Given the description of an element on the screen output the (x, y) to click on. 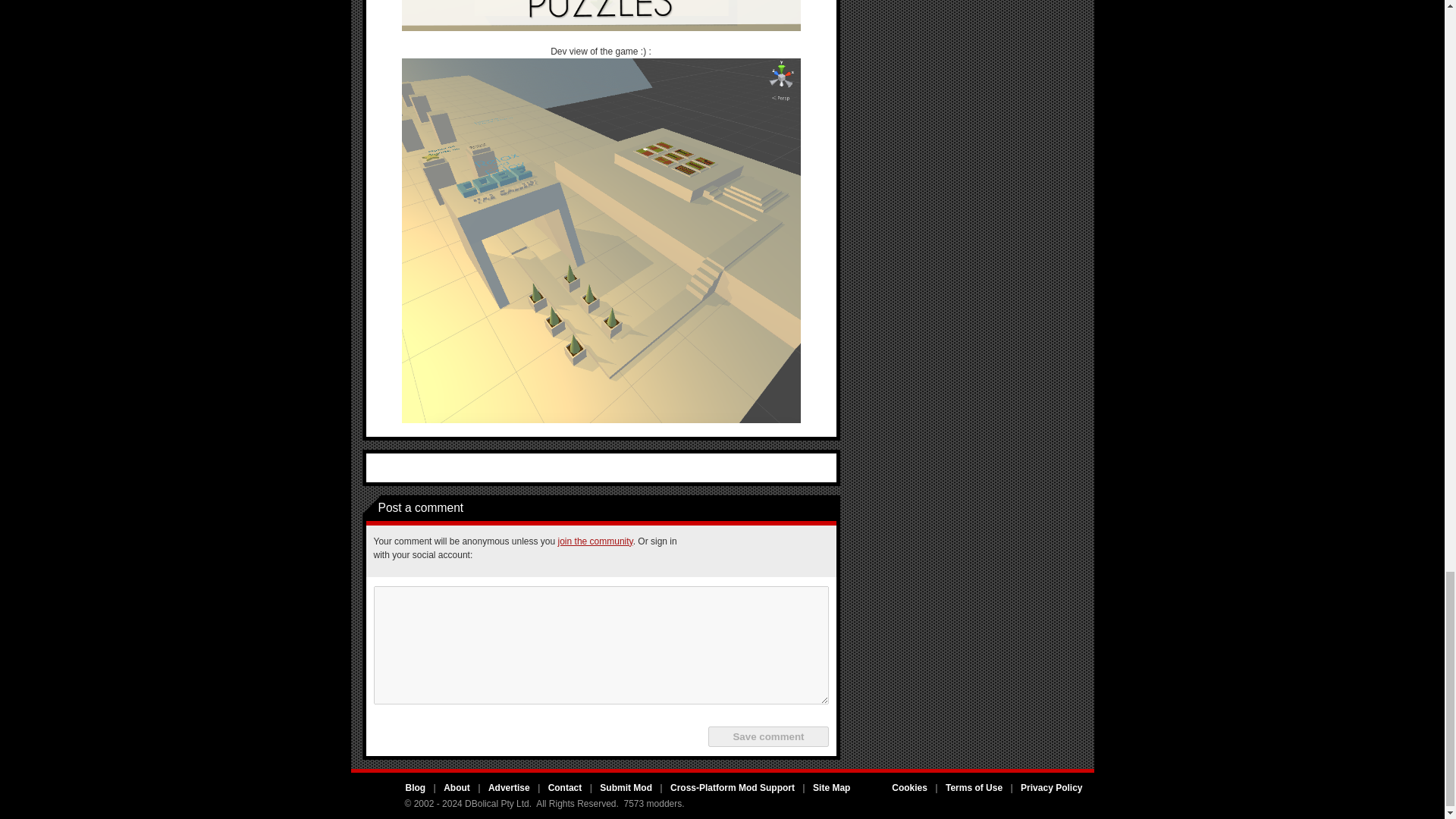
Click to connect via Twitter (739, 551)
Click to connect via Google (776, 551)
Click to connect via Steam (812, 551)
Click to connect via Facebook (703, 551)
Save comment (767, 735)
